Given the description of an element on the screen output the (x, y) to click on. 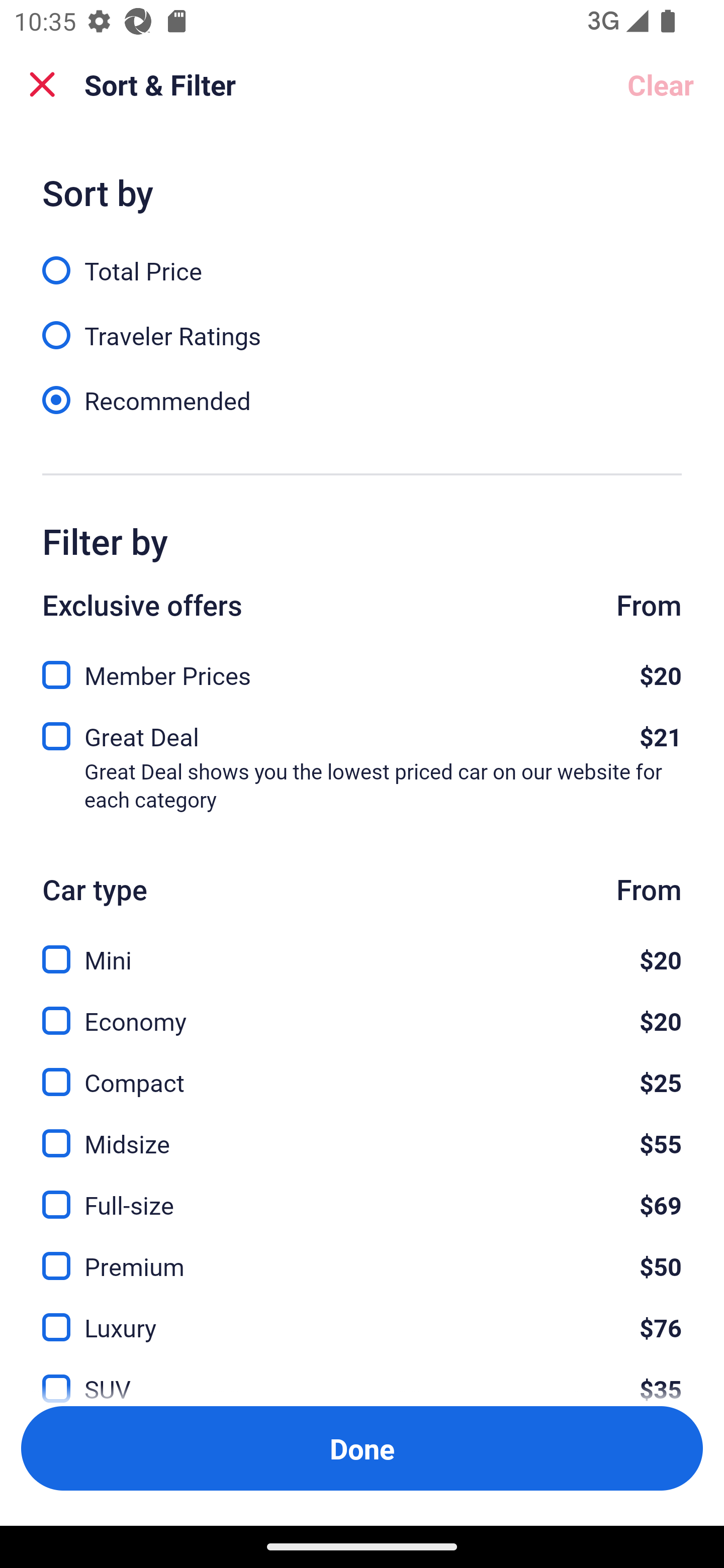
Close Sort and Filter (42, 84)
Clear (660, 84)
Total Price (361, 259)
Traveler Ratings (361, 324)
Member Prices, $20 Member Prices $20 (361, 669)
Mini, $20 Mini $20 (361, 947)
Economy, $20 Economy $20 (361, 1008)
Compact, $25 Compact $25 (361, 1070)
Midsize, $55 Midsize $55 (361, 1132)
Full-size, $69 Full-size $69 (361, 1193)
Premium, $50 Premium $50 (361, 1254)
Luxury, $76 Luxury $76 (361, 1315)
SUV, $35 SUV $35 (361, 1376)
Apply and close Sort and Filter Done (361, 1448)
